Given the description of an element on the screen output the (x, y) to click on. 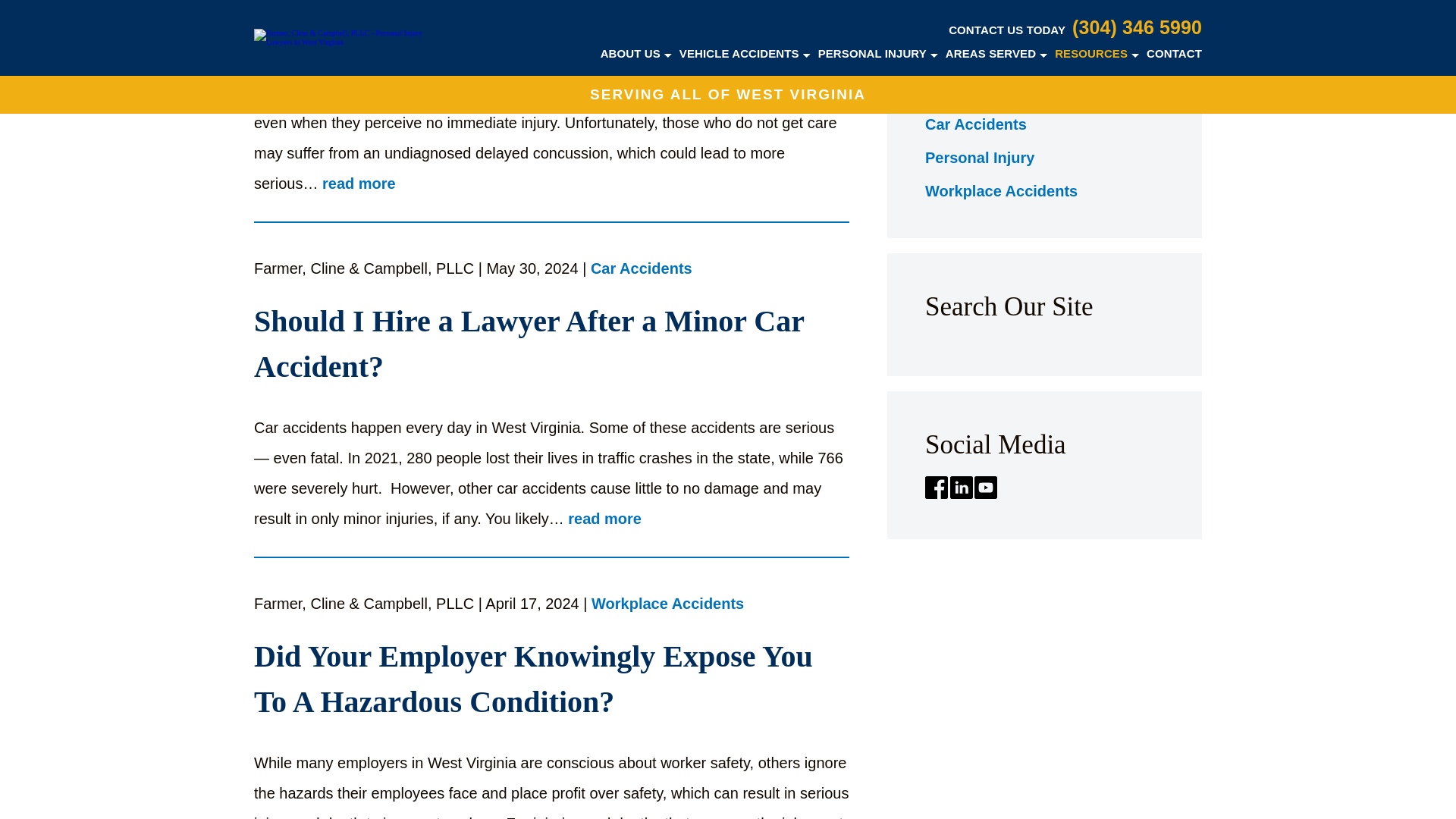
Workplace Accidents (667, 604)
read more (358, 184)
Car Accidents (642, 269)
read more (604, 519)
Should I Hire a Lawyer After a Minor Car Accident? (550, 343)
Delayed Concussion Symptoms (550, 12)
